Given the description of an element on the screen output the (x, y) to click on. 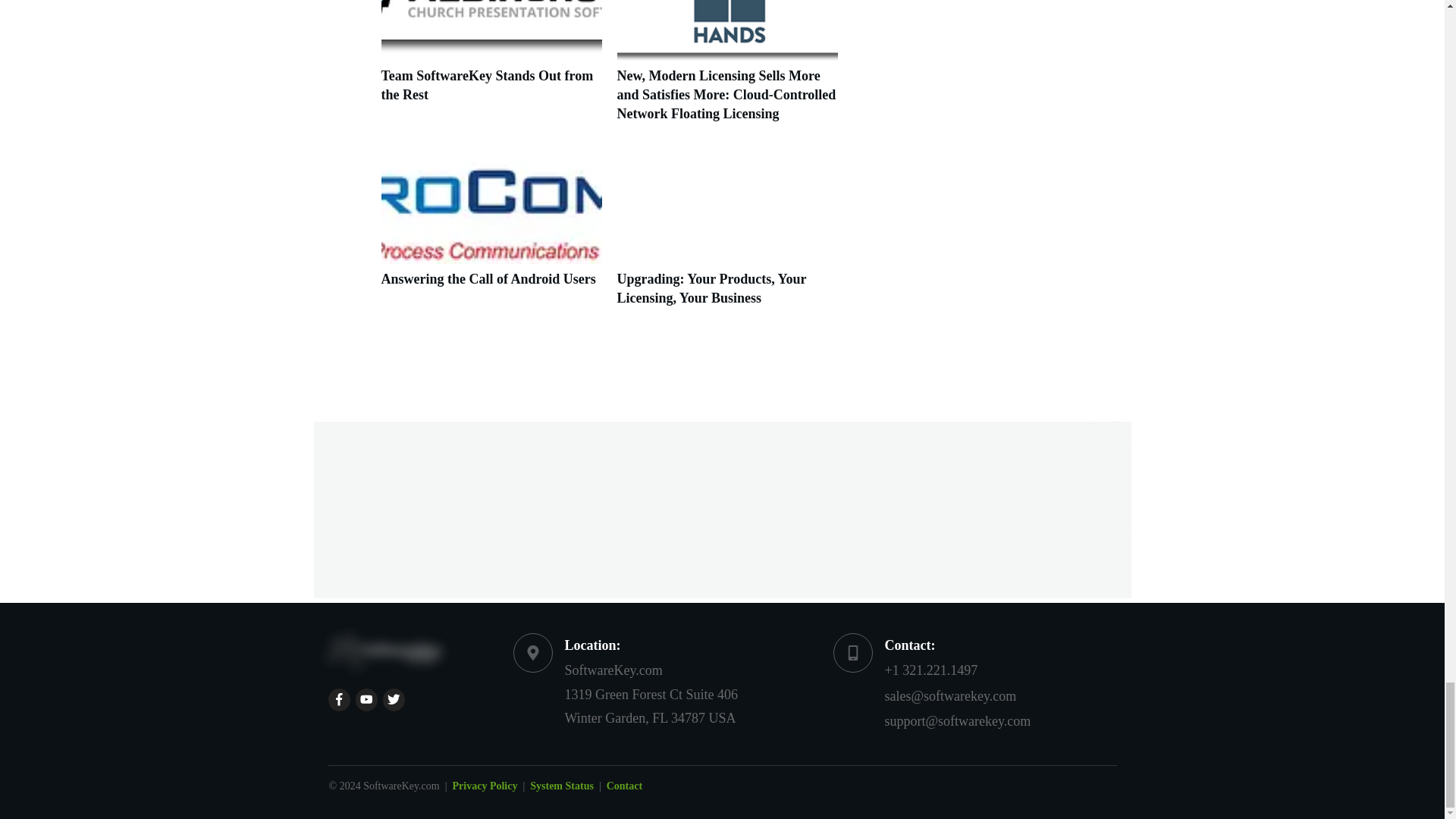
Upgrading: Your Products, Your Licensing, Your Business (711, 288)
Answering the Call of Android Users (487, 278)
Team SoftwareKey Stands Out from the Rest (486, 84)
